Given the description of an element on the screen output the (x, y) to click on. 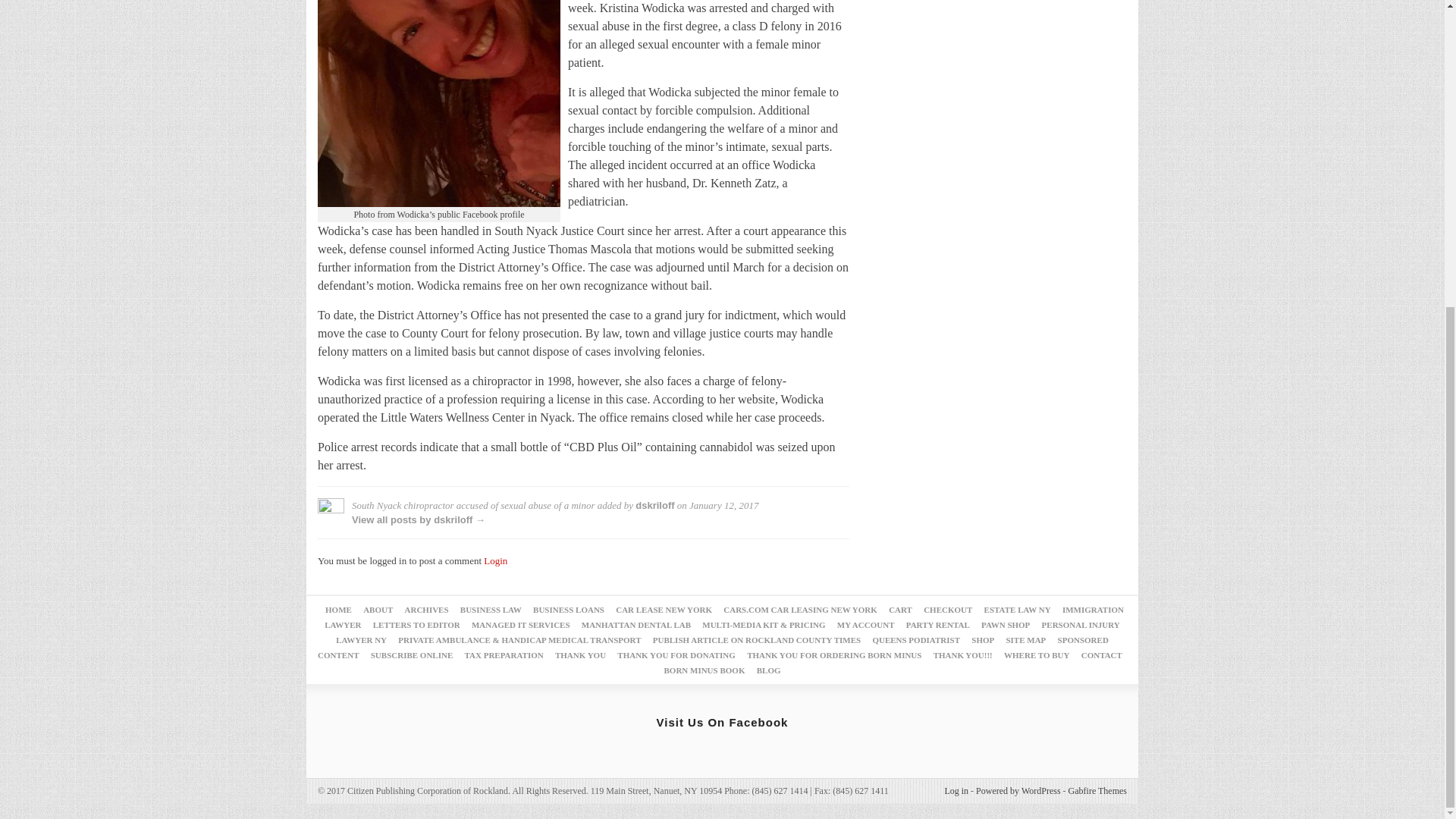
Login (494, 560)
dskriloff (654, 505)
